Given the description of an element on the screen output the (x, y) to click on. 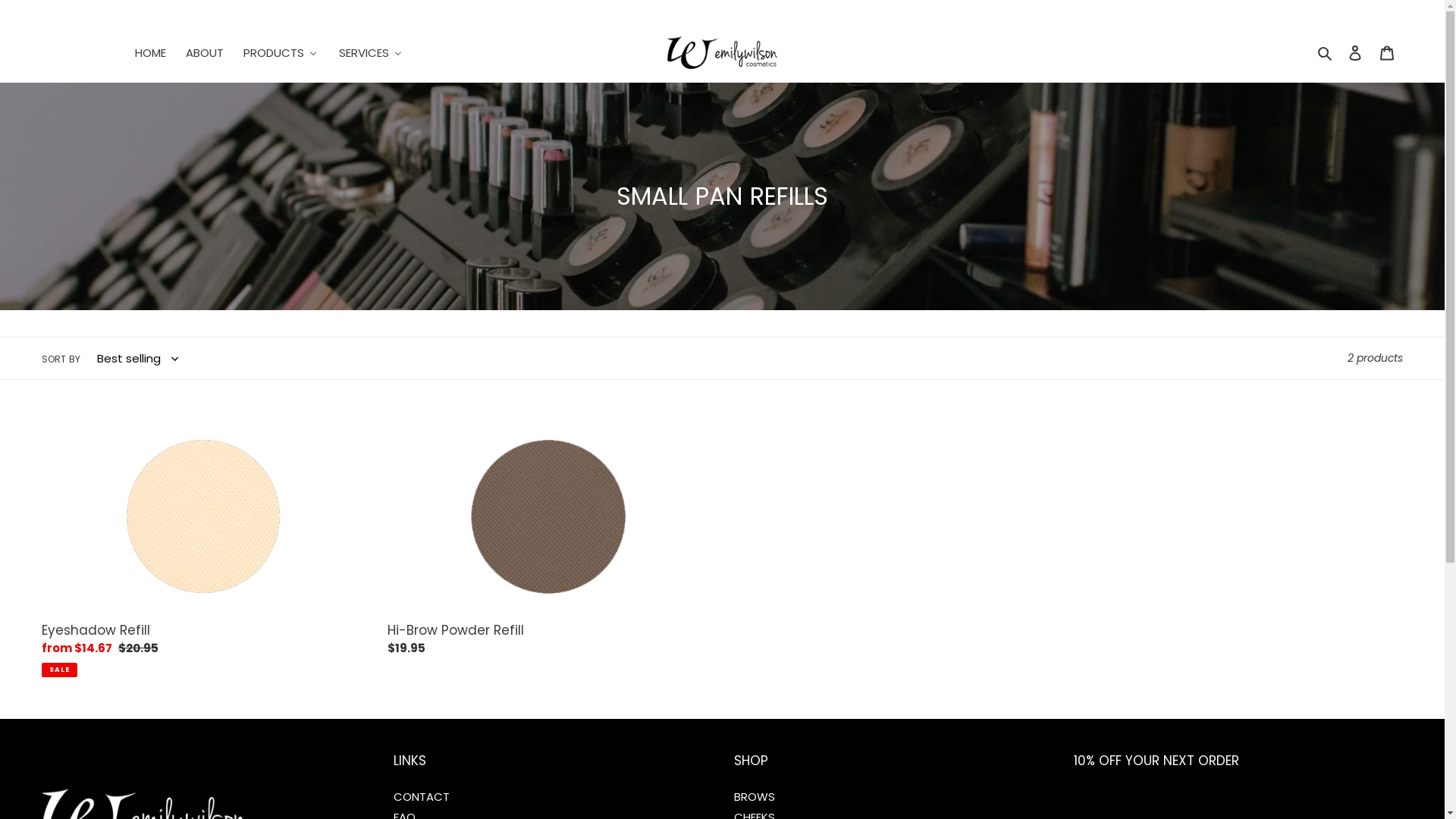
Search Element type: text (1325, 52)
SERVICES Element type: text (370, 52)
Cart Element type: text (1386, 52)
ABOUT Element type: text (203, 52)
CONTACT Element type: text (421, 796)
BROWS Element type: text (754, 796)
HOME Element type: text (149, 52)
Hi-Brow Powder Refill Element type: text (548, 541)
Log in Element type: text (1355, 52)
Eyeshadow Refill Element type: text (202, 549)
PRODUCTS Element type: text (280, 52)
